Given the description of an element on the screen output the (x, y) to click on. 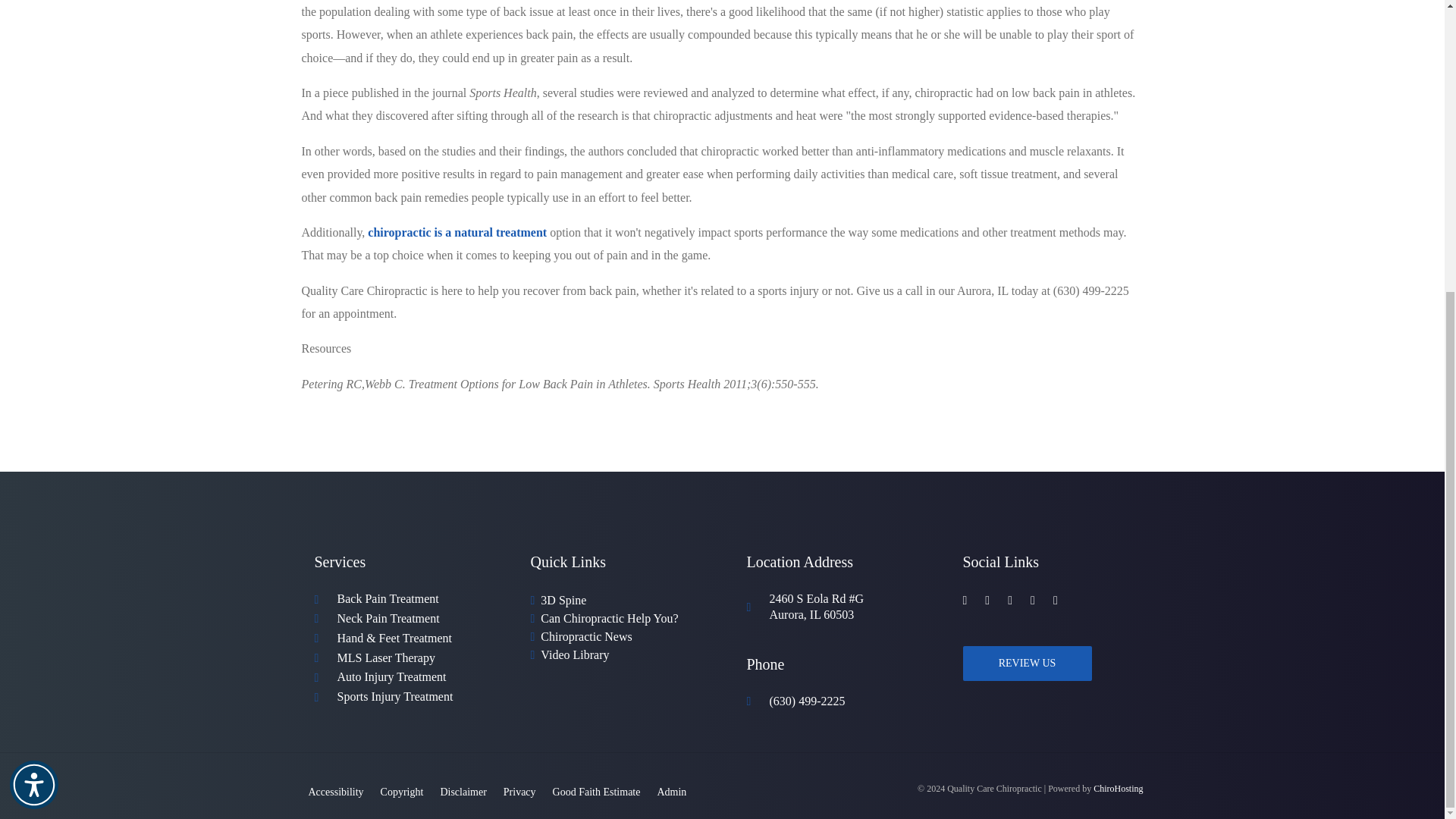
Accessibility Menu (34, 338)
